Given the description of an element on the screen output the (x, y) to click on. 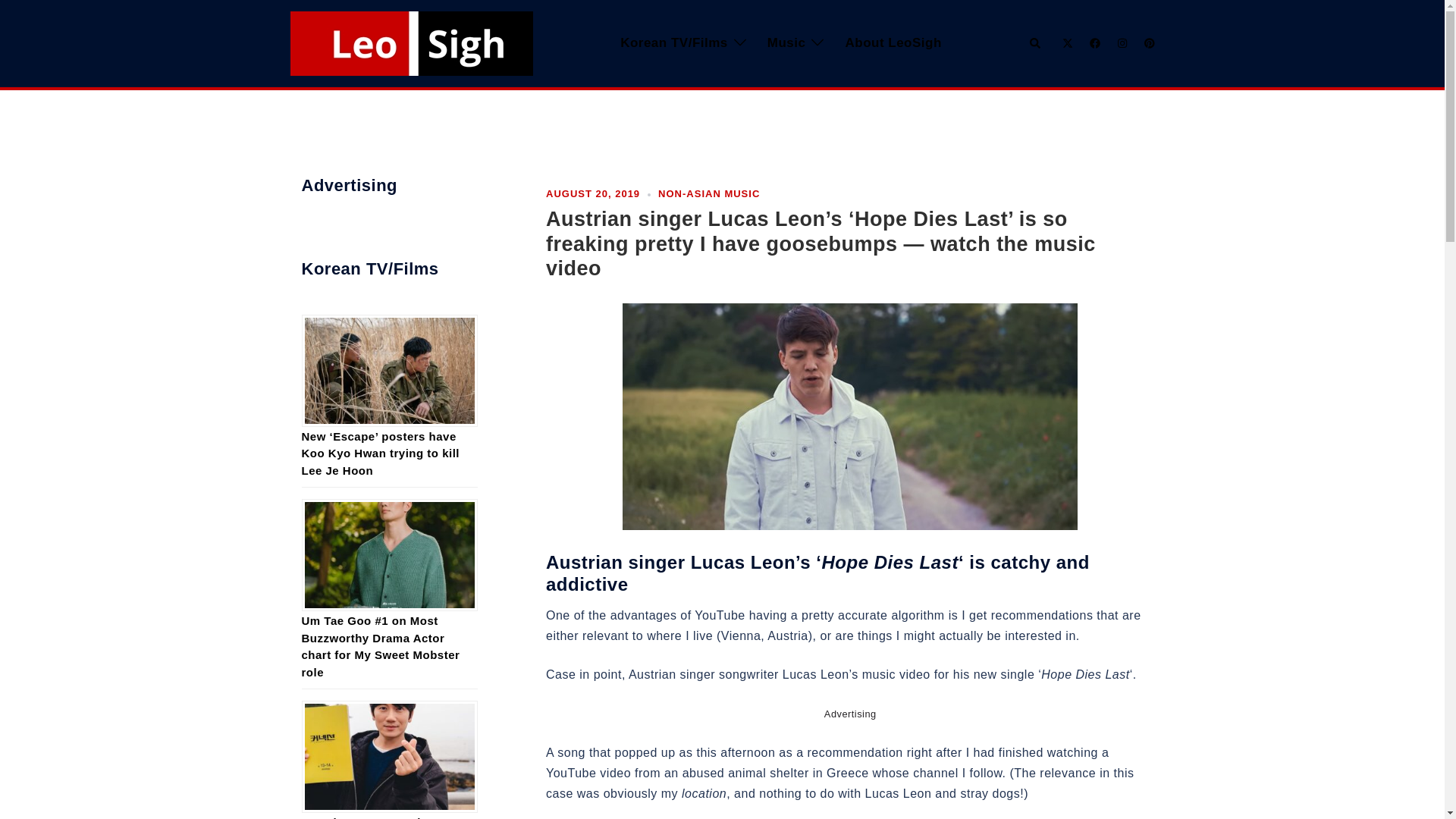
Music (786, 43)
Leo Sigh (410, 42)
NON-ASIAN MUSIC (709, 193)
About LeoSigh (892, 43)
Search (1035, 42)
AUGUST 20, 2019 (593, 193)
